Given the description of an element on the screen output the (x, y) to click on. 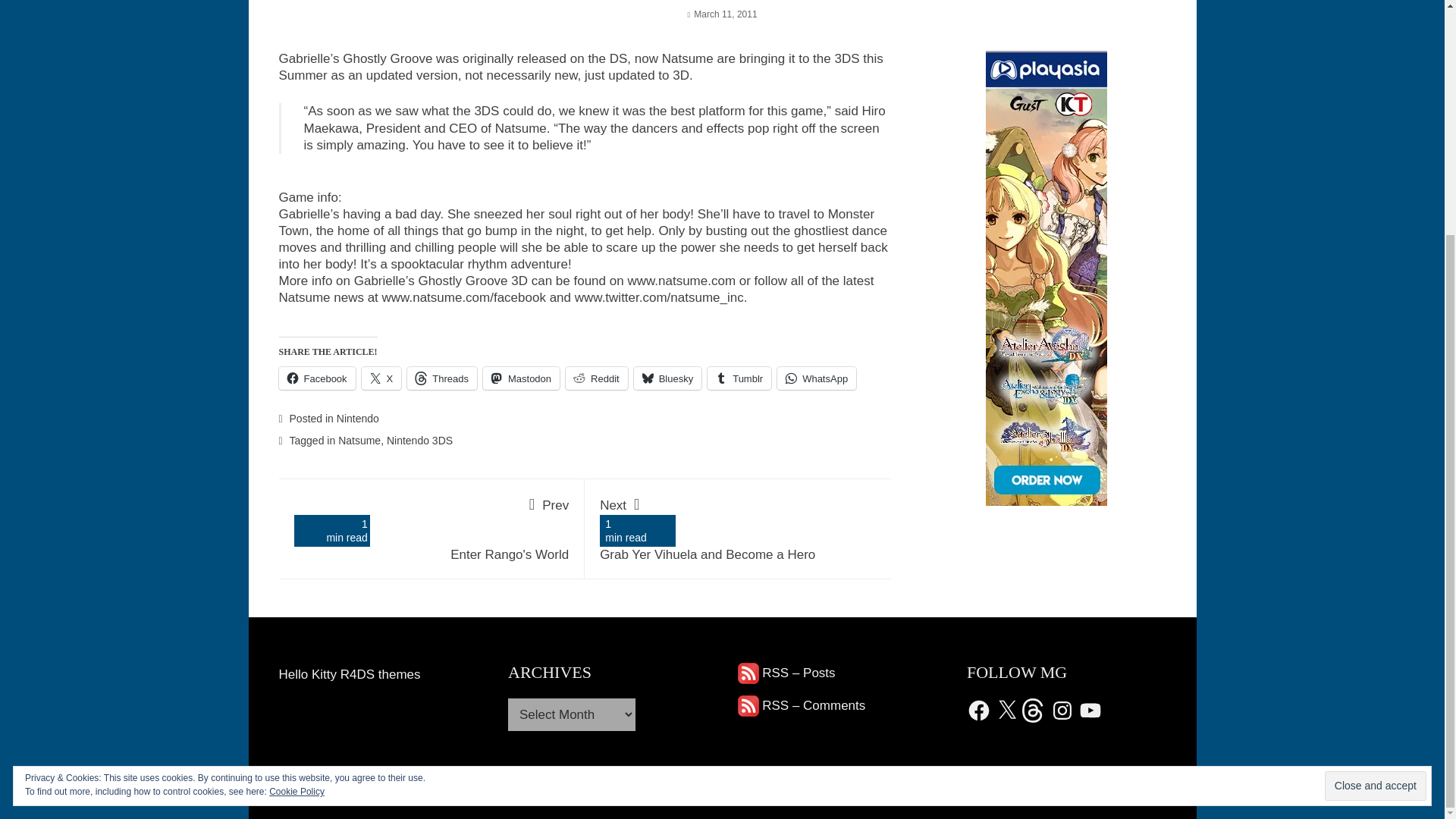
X (381, 377)
Natsume (358, 440)
Click to share on Reddit (596, 377)
Click to share on Threads (442, 377)
Click to share on WhatsApp (816, 377)
Threads (442, 377)
Mastodon (521, 377)
Click to share on Bluesky (667, 377)
Click to share on Tumblr (739, 377)
WhatsApp (816, 377)
Subscribe to comments (800, 705)
Official website (681, 280)
Subscribe to posts (785, 672)
Click to share on Facebook (317, 377)
